Given the description of an element on the screen output the (x, y) to click on. 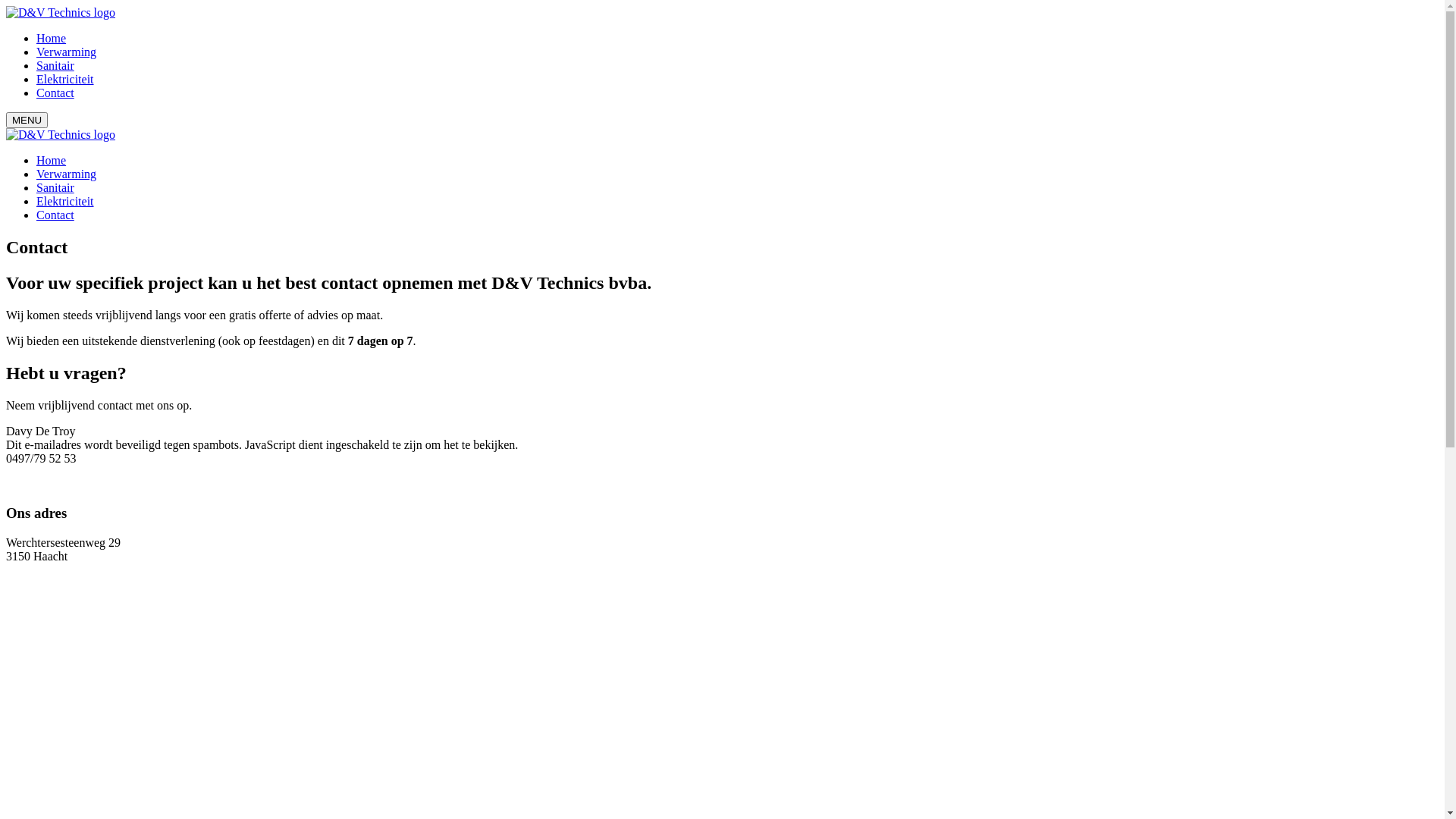
MENU Element type: text (26, 120)
Verwarming Element type: text (66, 173)
Home Element type: text (50, 159)
Contact Element type: text (55, 214)
Elektriciteit Element type: text (65, 78)
Sanitair Element type: text (55, 187)
Elektriciteit Element type: text (65, 200)
Contact Element type: text (55, 92)
Verwarming Element type: text (66, 51)
Home Element type: text (50, 37)
Sanitair Element type: text (55, 65)
